Given the description of an element on the screen output the (x, y) to click on. 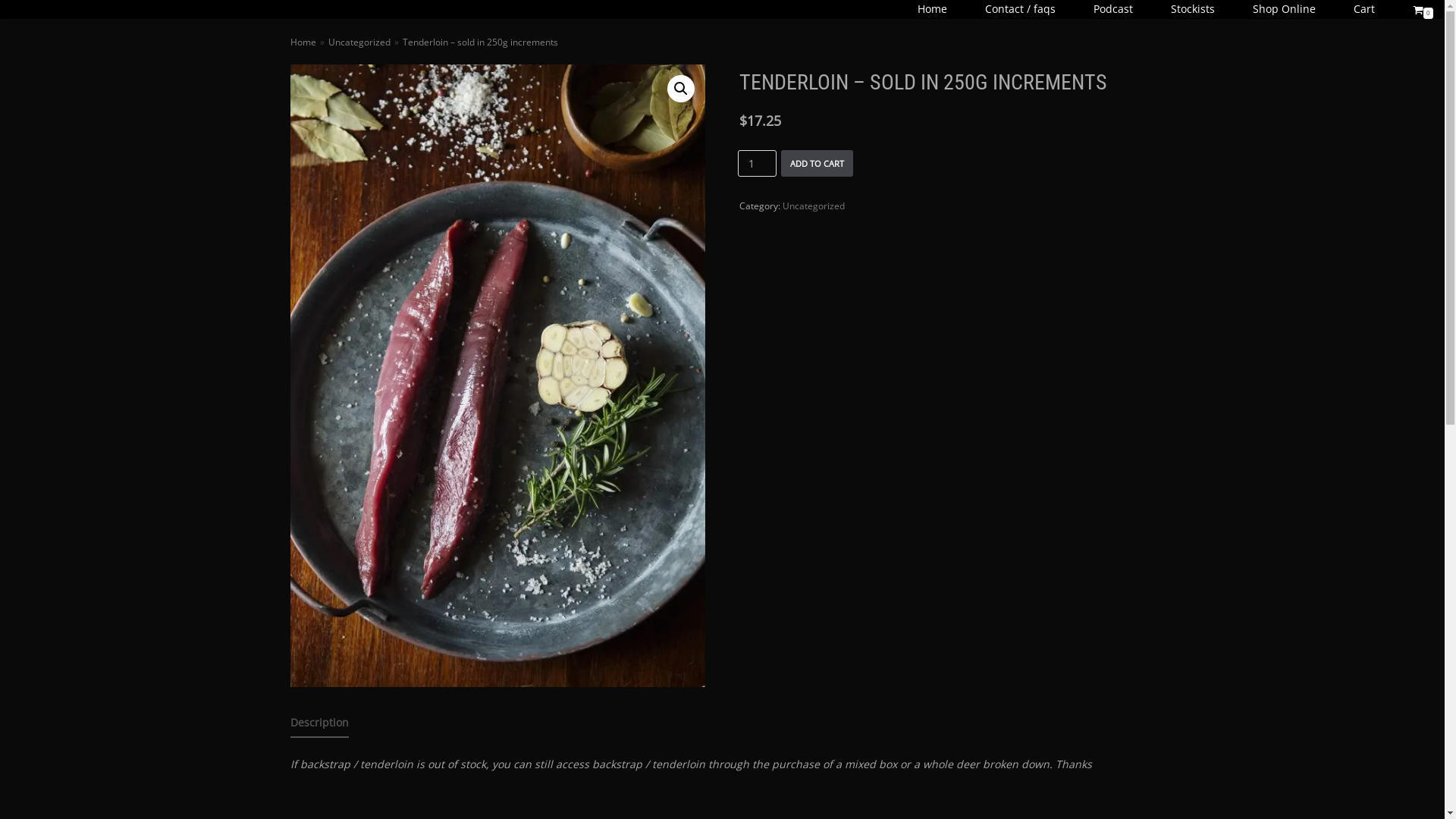
0 Element type: text (1422, 9)
Cart Element type: text (1363, 9)
Shop Online Element type: text (1283, 9)
Description Element type: text (318, 722)
Uncategorized Element type: text (813, 205)
Podcast Element type: text (1112, 9)
Stockists Element type: text (1192, 9)
Home Element type: text (932, 9)
Contact / faqs Element type: text (1020, 9)
Webp.net-compress-image (3) Element type: hover (496, 375)
Home Element type: text (302, 41)
ADD TO CART Element type: text (817, 163)
Skip to content Element type: text (15, 7)
Uncategorized Element type: text (358, 41)
